Given the description of an element on the screen output the (x, y) to click on. 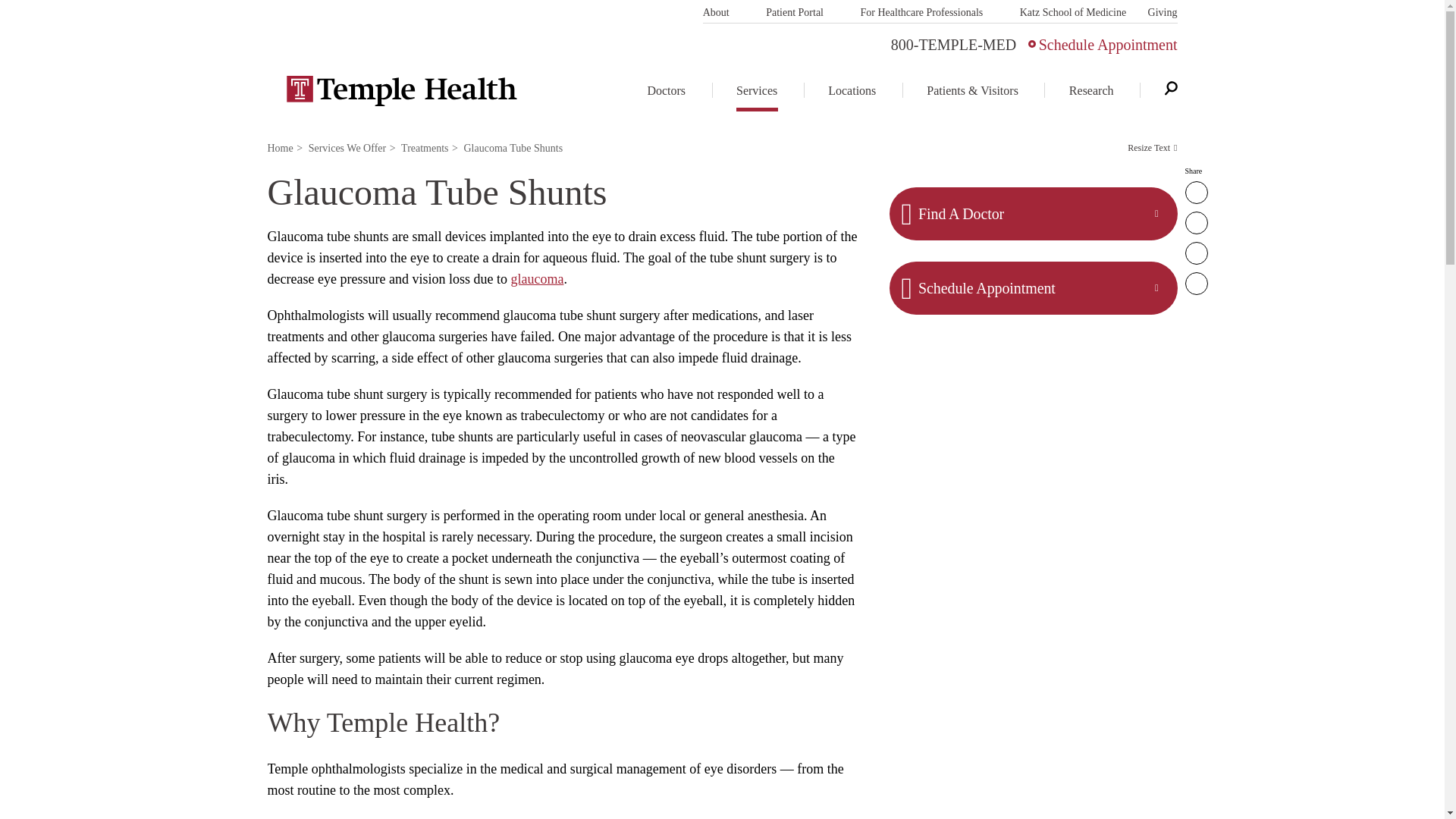
For Healthcare Professionals (929, 11)
Doctors (676, 89)
Patient Portal (801, 11)
Share to E-mail (1196, 252)
Share to Facebook (1196, 191)
About (723, 11)
Schedule Appointment (1102, 44)
Katz School of Medicine (1072, 11)
Services (757, 89)
